Given the description of an element on the screen output the (x, y) to click on. 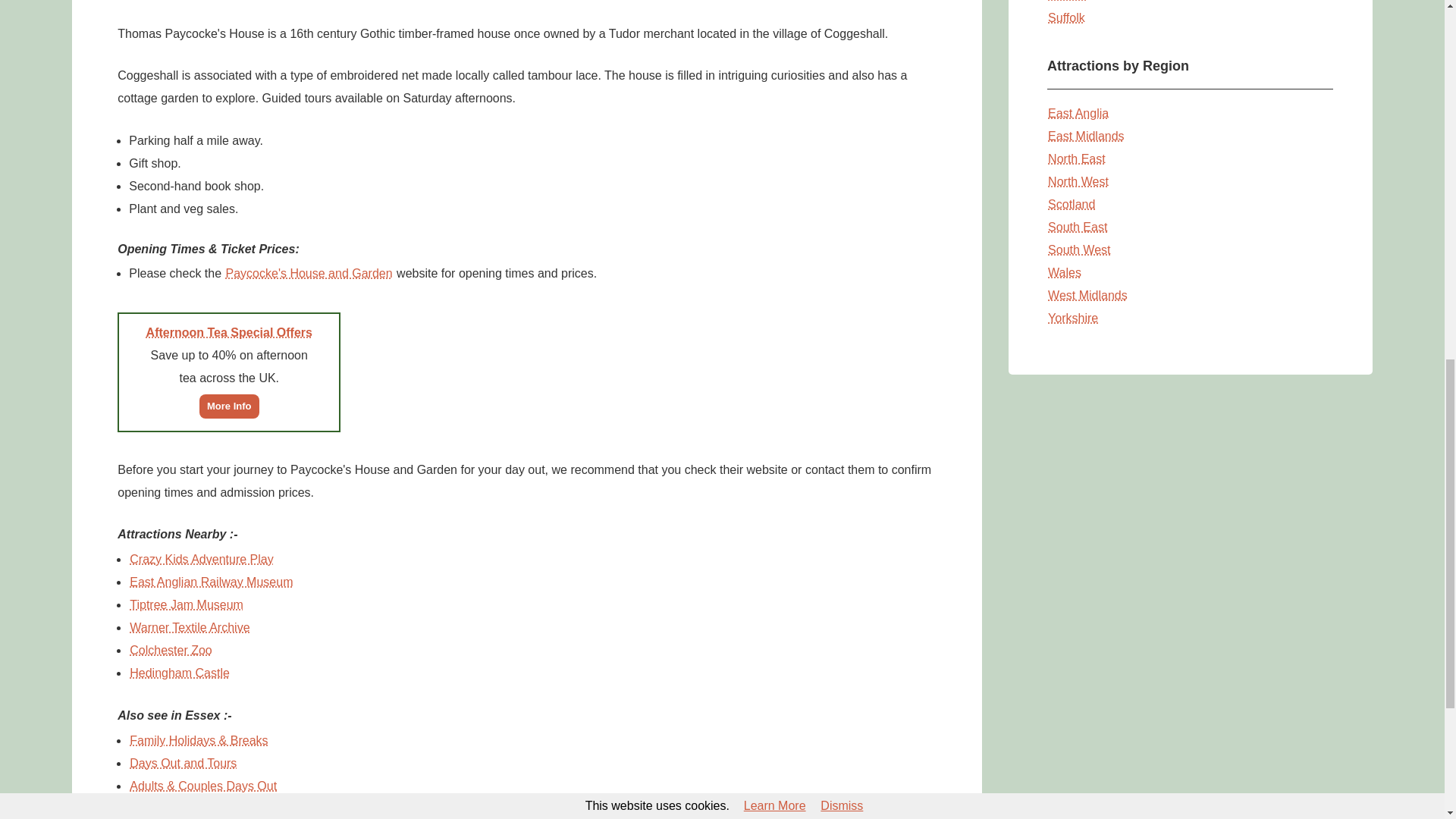
Afternoon Tea Special Offers (229, 332)
Warner Textile Archive (189, 626)
More Info (229, 404)
Crazy Kids Adventure Play (201, 558)
Days Out and Tours (183, 762)
Hedingham Castle (179, 671)
Colchester Zoo (170, 649)
East Anglian Railway Museum (211, 581)
Paycocke's House and Garden (309, 273)
Tiptree Jam Museum (186, 603)
